Given the description of an element on the screen output the (x, y) to click on. 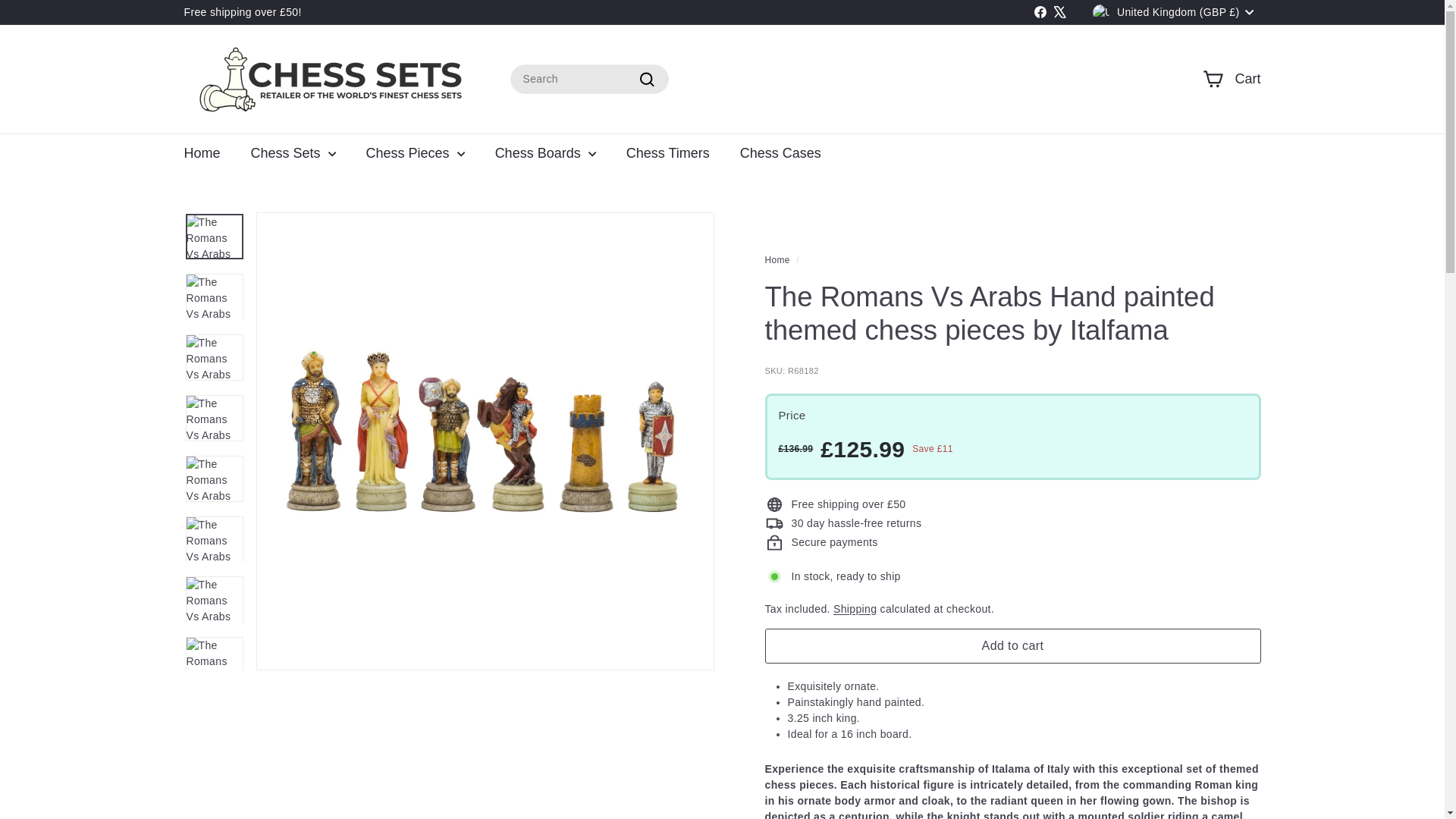
Home (201, 153)
ChessSets on X (1059, 12)
ChessSets on Facebook (1039, 12)
Back to the frontpage (776, 259)
Search (646, 78)
Chess Cases (780, 153)
Chess Timers (668, 153)
Facebook (1039, 12)
X (1059, 12)
Cart (1231, 78)
